Given the description of an element on the screen output the (x, y) to click on. 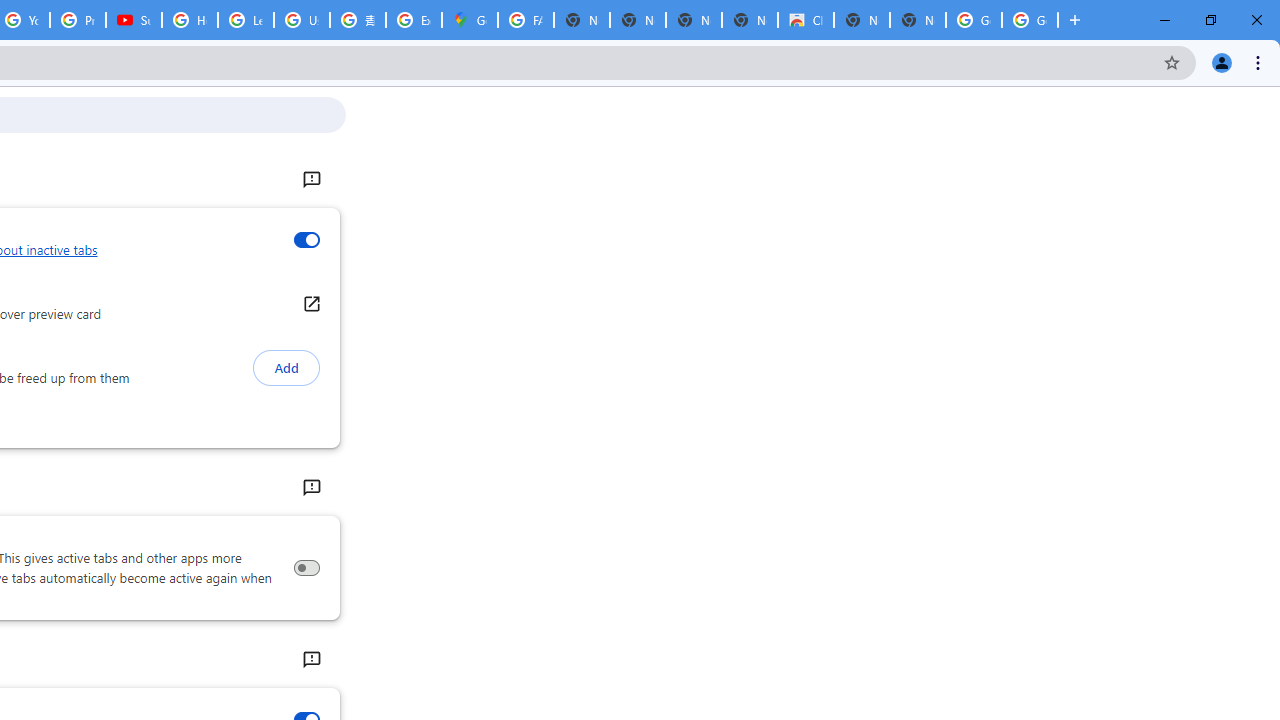
Google Images (1030, 20)
Chrome Web Store (806, 20)
Subscriptions - YouTube (134, 20)
How Chrome protects your passwords - Google Chrome Help (189, 20)
